Given the description of an element on the screen output the (x, y) to click on. 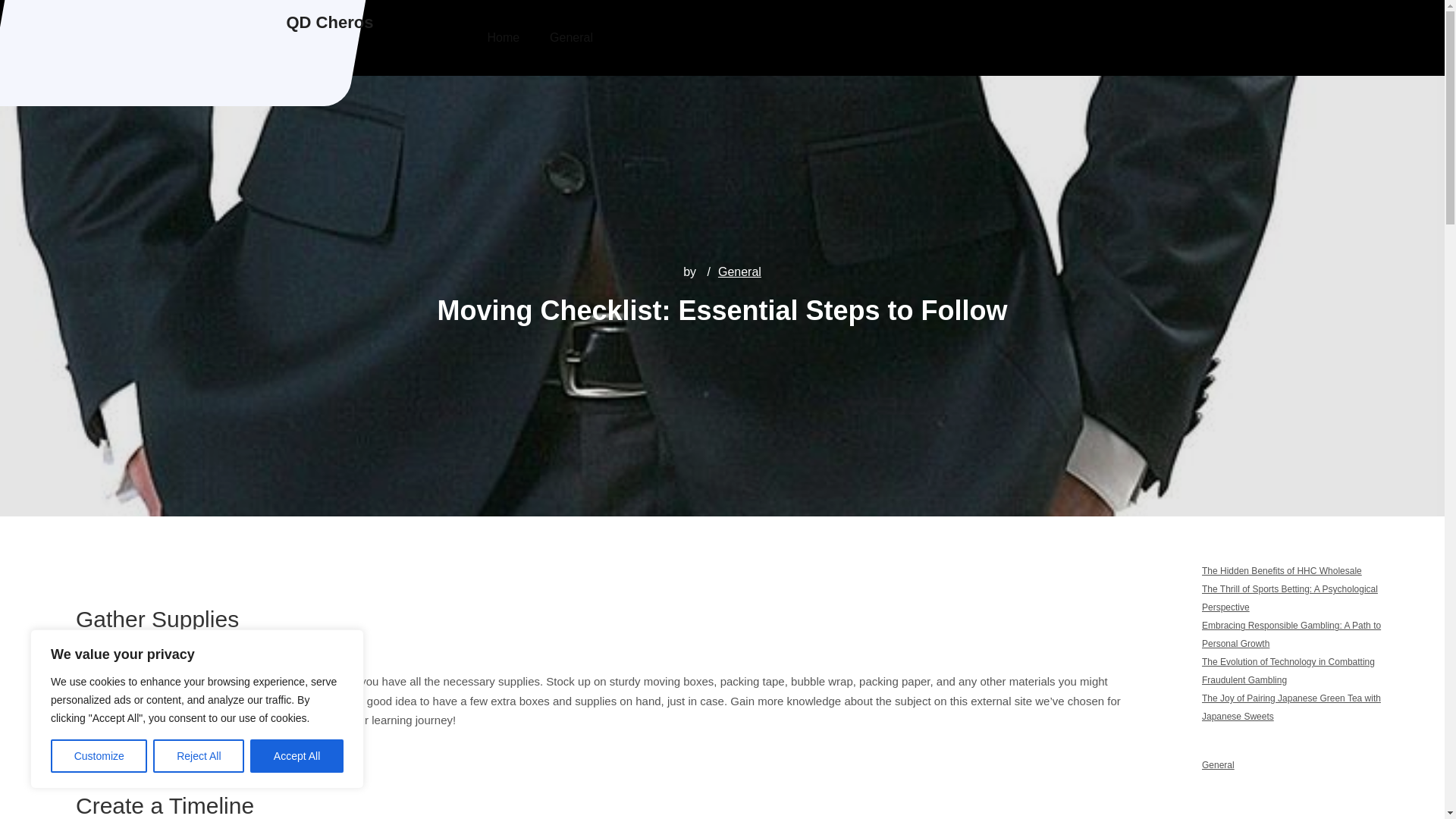
Accept All (296, 756)
Embracing Responsible Gambling: A Path to Personal Growth (1291, 634)
Customize (98, 756)
Explore this related research (173, 719)
General (571, 38)
Home (502, 38)
The Joy of Pairing Japanese Green Tea with Japanese Sweets (1291, 706)
General (739, 271)
The Thrill of Sports Betting: A Psychological Perspective (1289, 597)
General (1218, 765)
Reject All (198, 756)
QD Cheros (330, 22)
The Hidden Benefits of HHC Wholesale (1281, 570)
QD Cheros (330, 22)
